Given the description of an element on the screen output the (x, y) to click on. 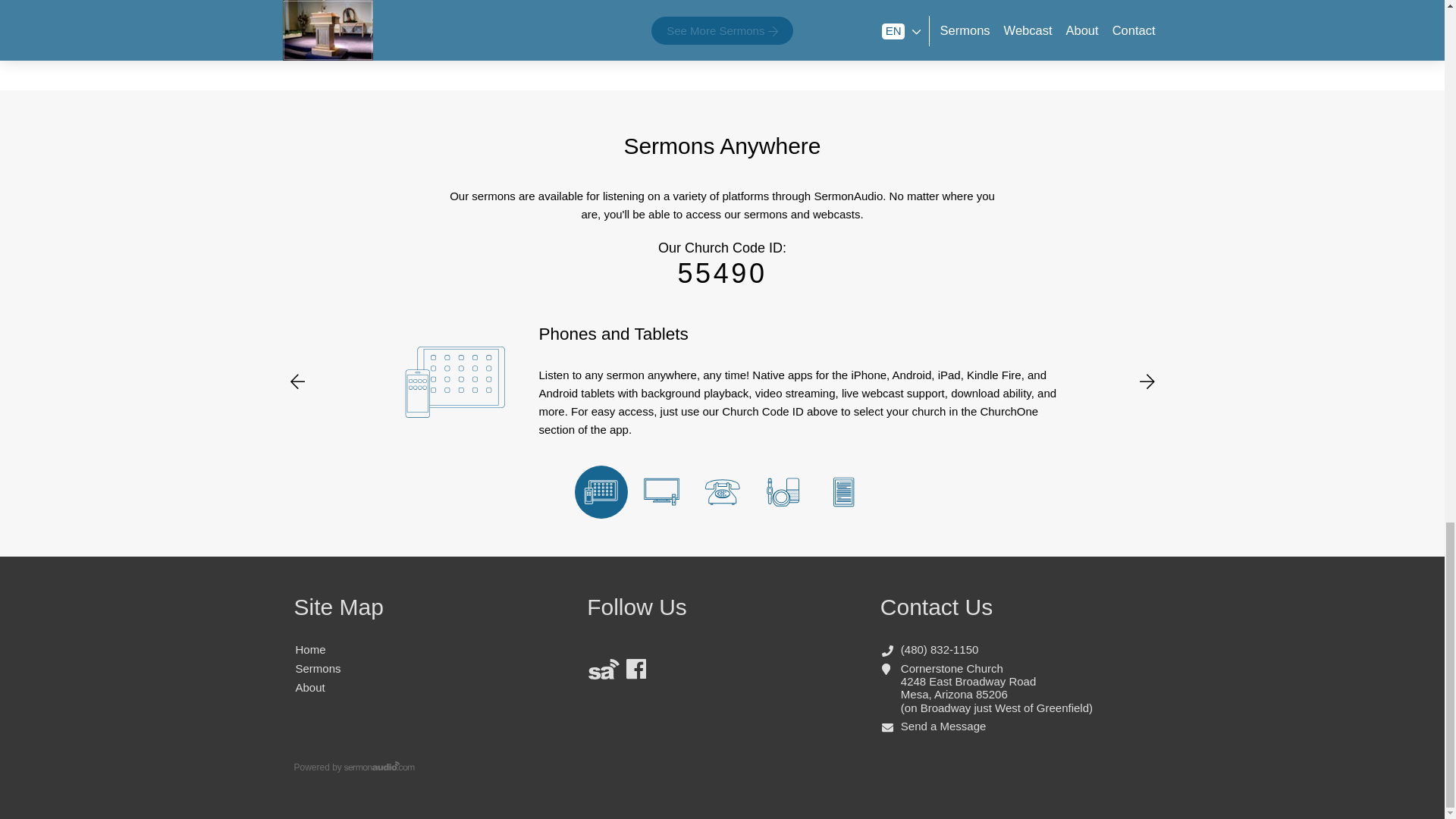
Send a Message (944, 725)
About (309, 686)
Home (310, 649)
Sermons (317, 667)
See More Sermons (721, 30)
